Given the description of an element on the screen output the (x, y) to click on. 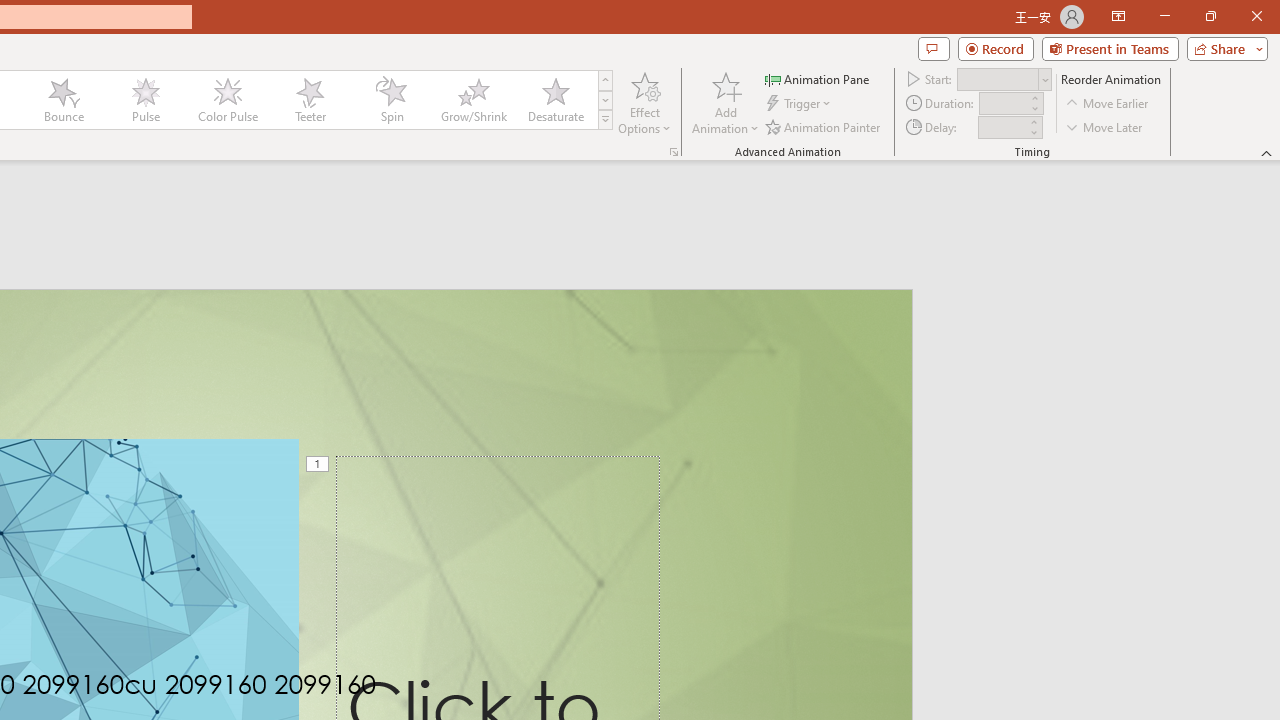
Desaturate (555, 100)
Color Pulse (227, 100)
Animation Delay (1002, 127)
